Given the description of an element on the screen output the (x, y) to click on. 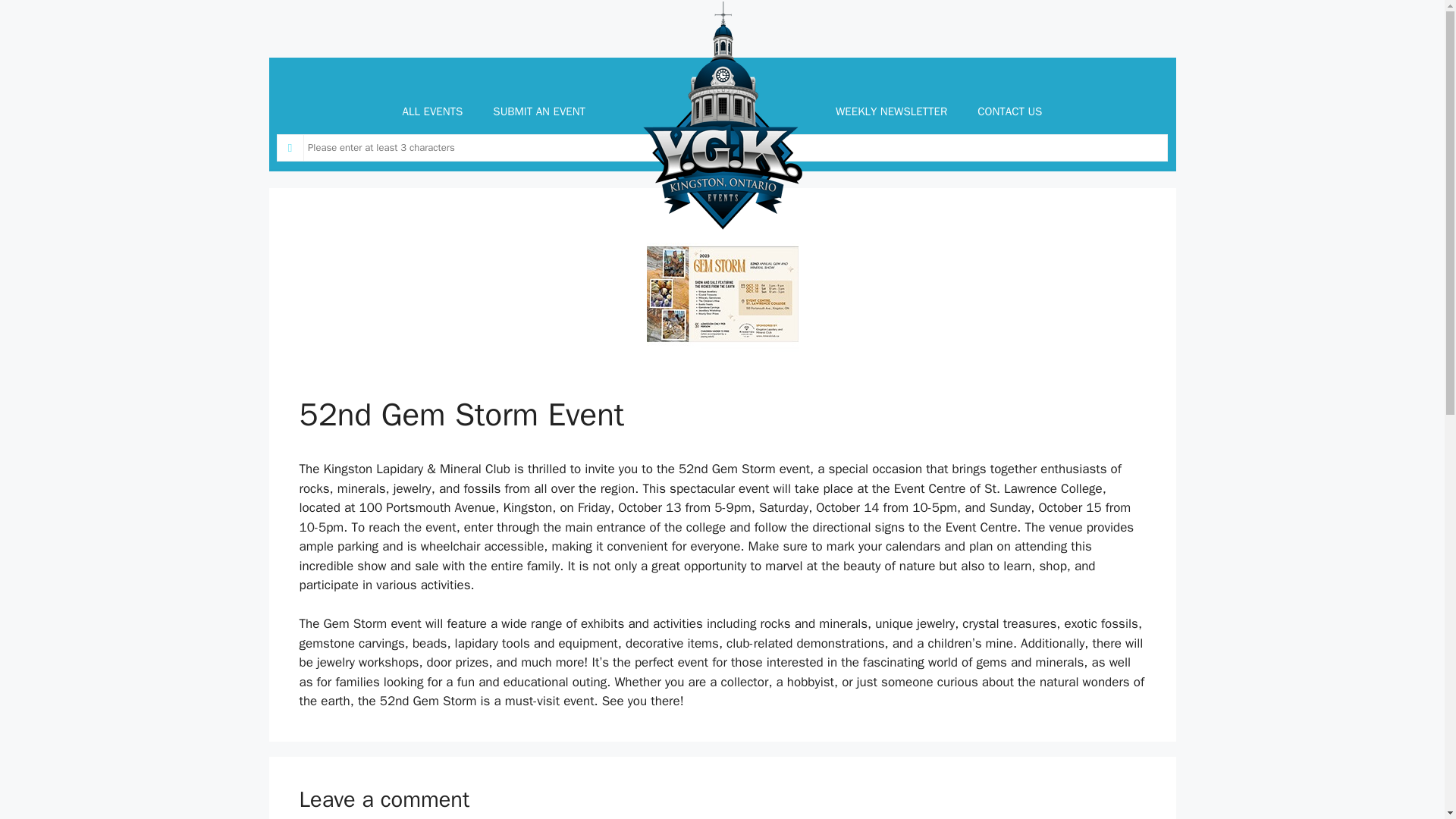
ALL EVENTS (433, 111)
CONTACT US (1009, 111)
SUBMIT AN EVENT (538, 111)
WEEKLY NEWSLETTER (891, 111)
